Given the description of an element on the screen output the (x, y) to click on. 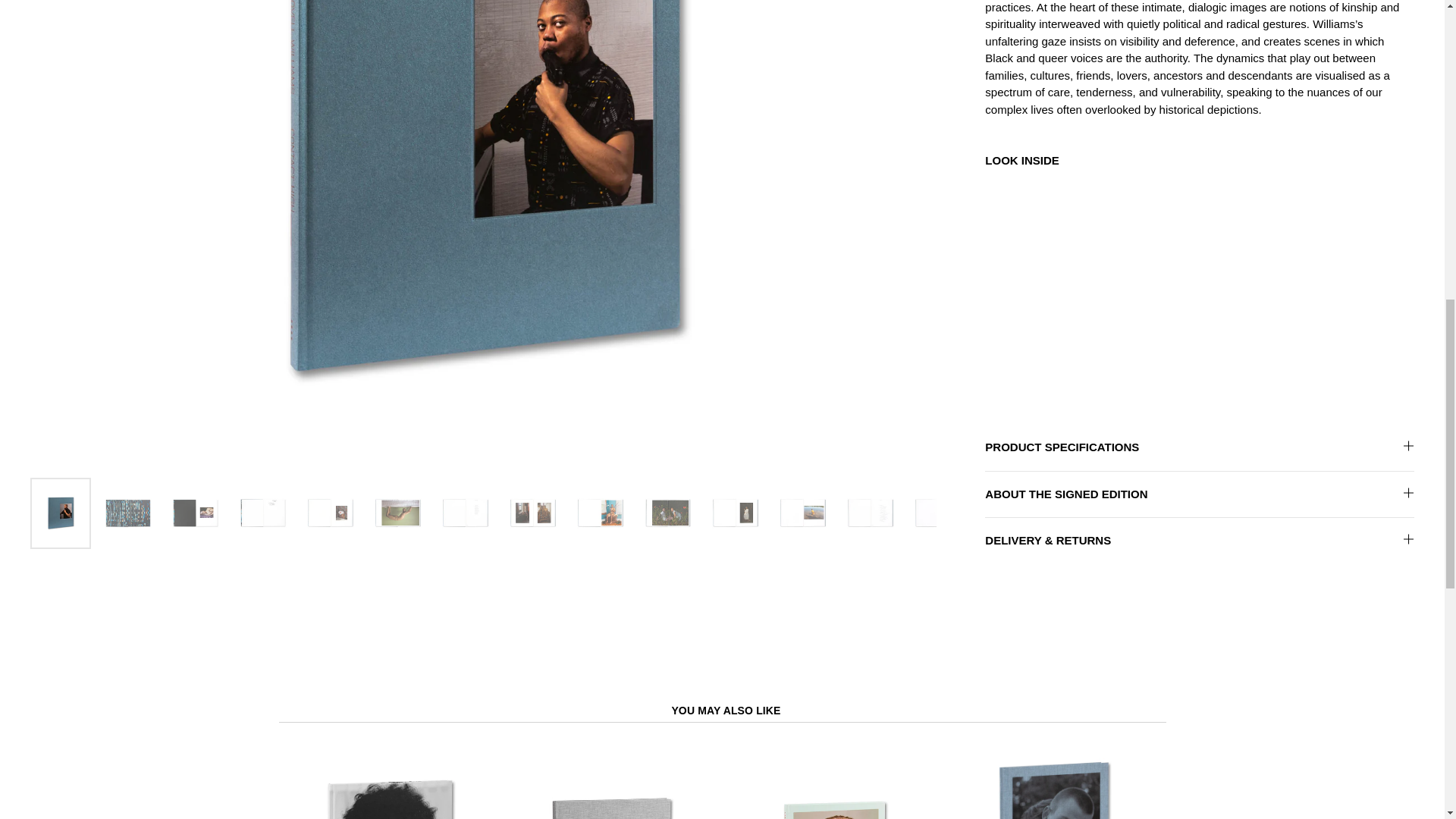
YouTube video player (1197, 288)
